Given the description of an element on the screen output the (x, y) to click on. 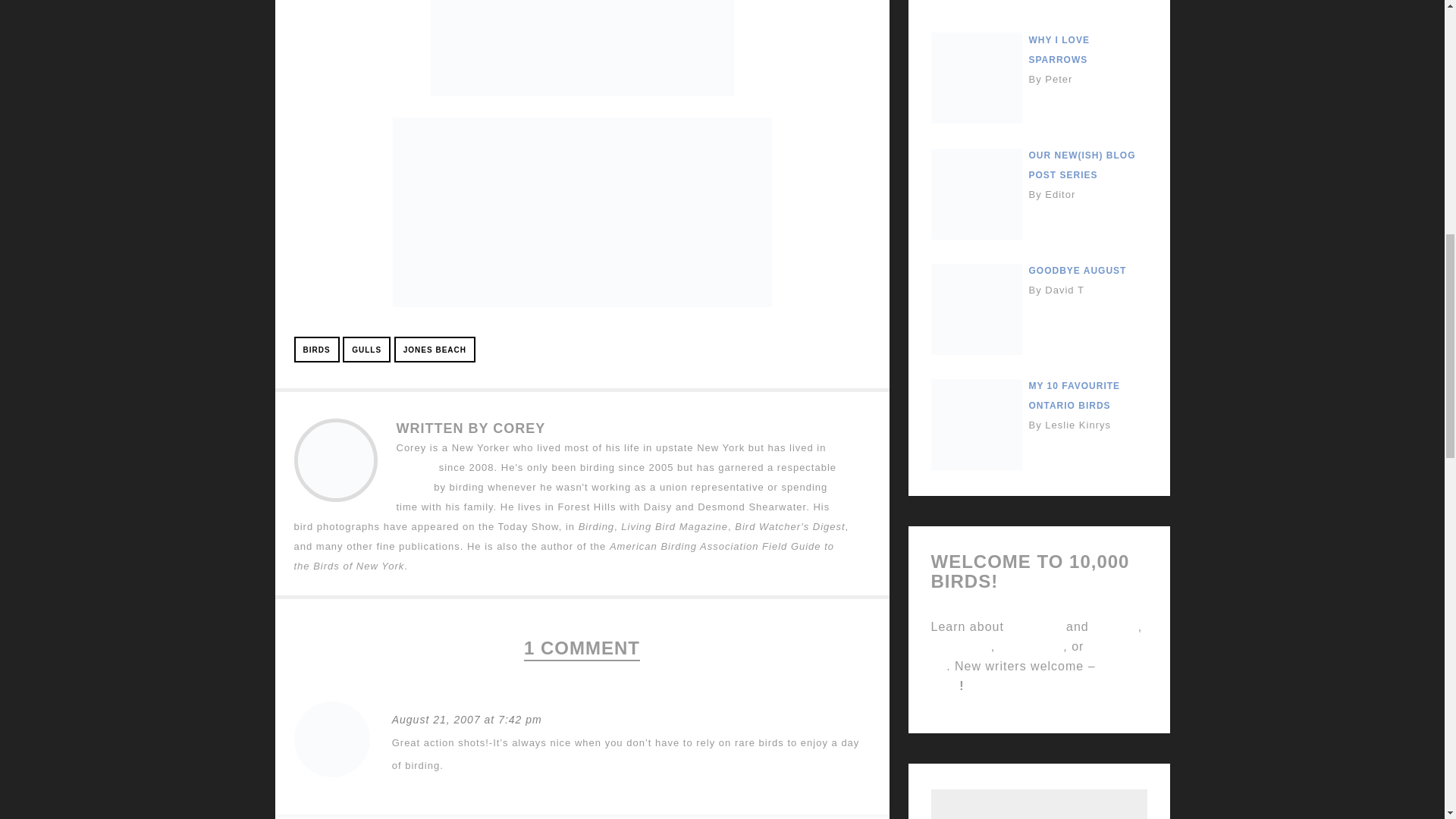
Queens (415, 466)
JONES BEACH (435, 349)
BIRDS (316, 349)
About 10,000 Birds (1032, 626)
life list (412, 486)
GULLS (366, 349)
Contact (1034, 655)
So this is how George W Bush feels! (582, 212)
Get away from my fish! (581, 48)
About the 10,000 Birds Beat Writers (1115, 626)
